Given the description of an element on the screen output the (x, y) to click on. 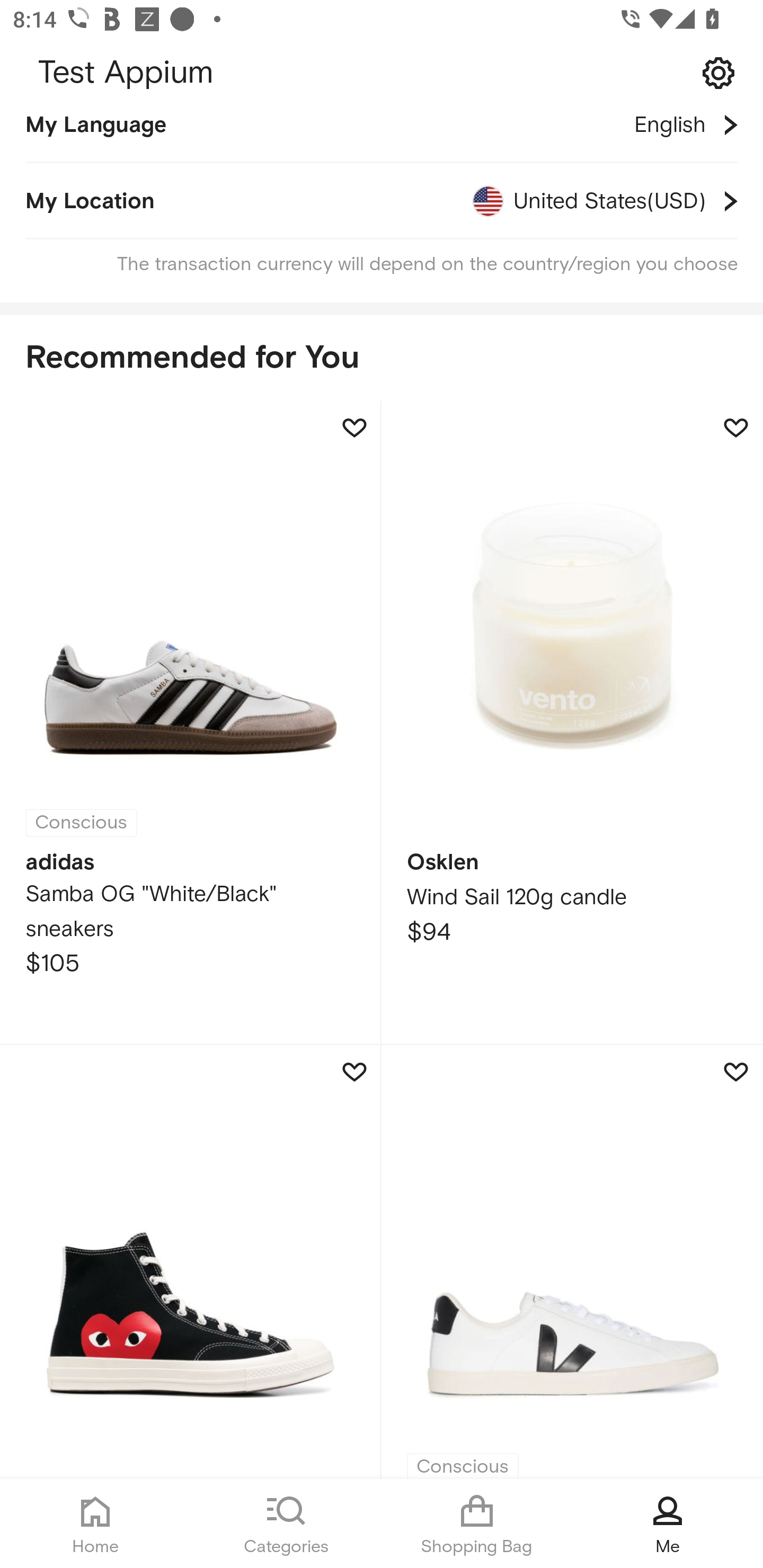
Test Appium (381, 72)
My Language English (381, 137)
My Location United States(USD) (381, 201)
Osklen Wind Sail 120g candle $94 (572, 723)
Conscious (572, 1261)
Home (95, 1523)
Categories (285, 1523)
Shopping Bag (476, 1523)
